Given the description of an element on the screen output the (x, y) to click on. 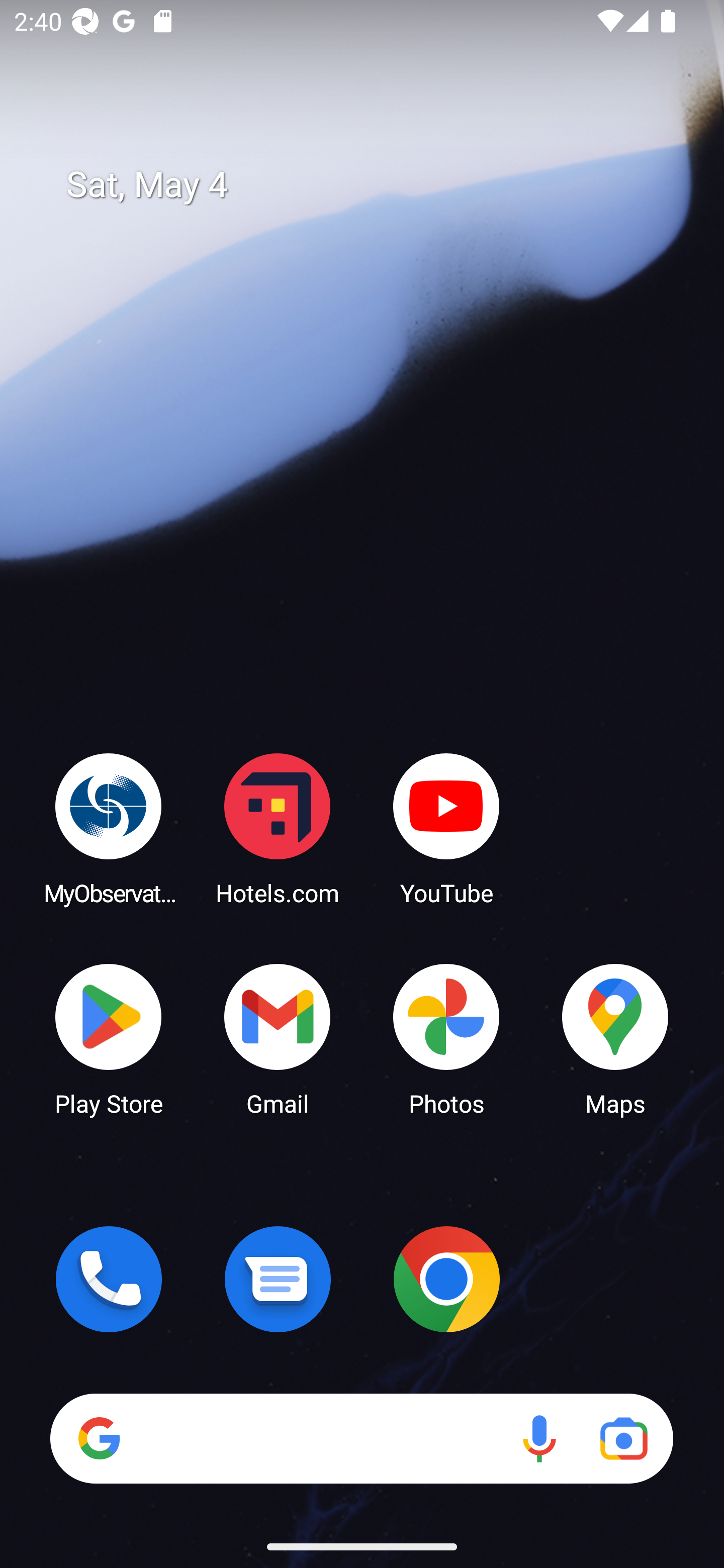
Sat, May 4 (375, 184)
MyObservatory (108, 828)
Hotels.com (277, 828)
YouTube (445, 828)
Play Store (108, 1038)
Gmail (277, 1038)
Photos (445, 1038)
Maps (615, 1038)
Phone (108, 1279)
Messages (277, 1279)
Chrome (446, 1279)
Search Voice search Google Lens (361, 1438)
Voice search (539, 1438)
Google Lens (623, 1438)
